Given the description of an element on the screen output the (x, y) to click on. 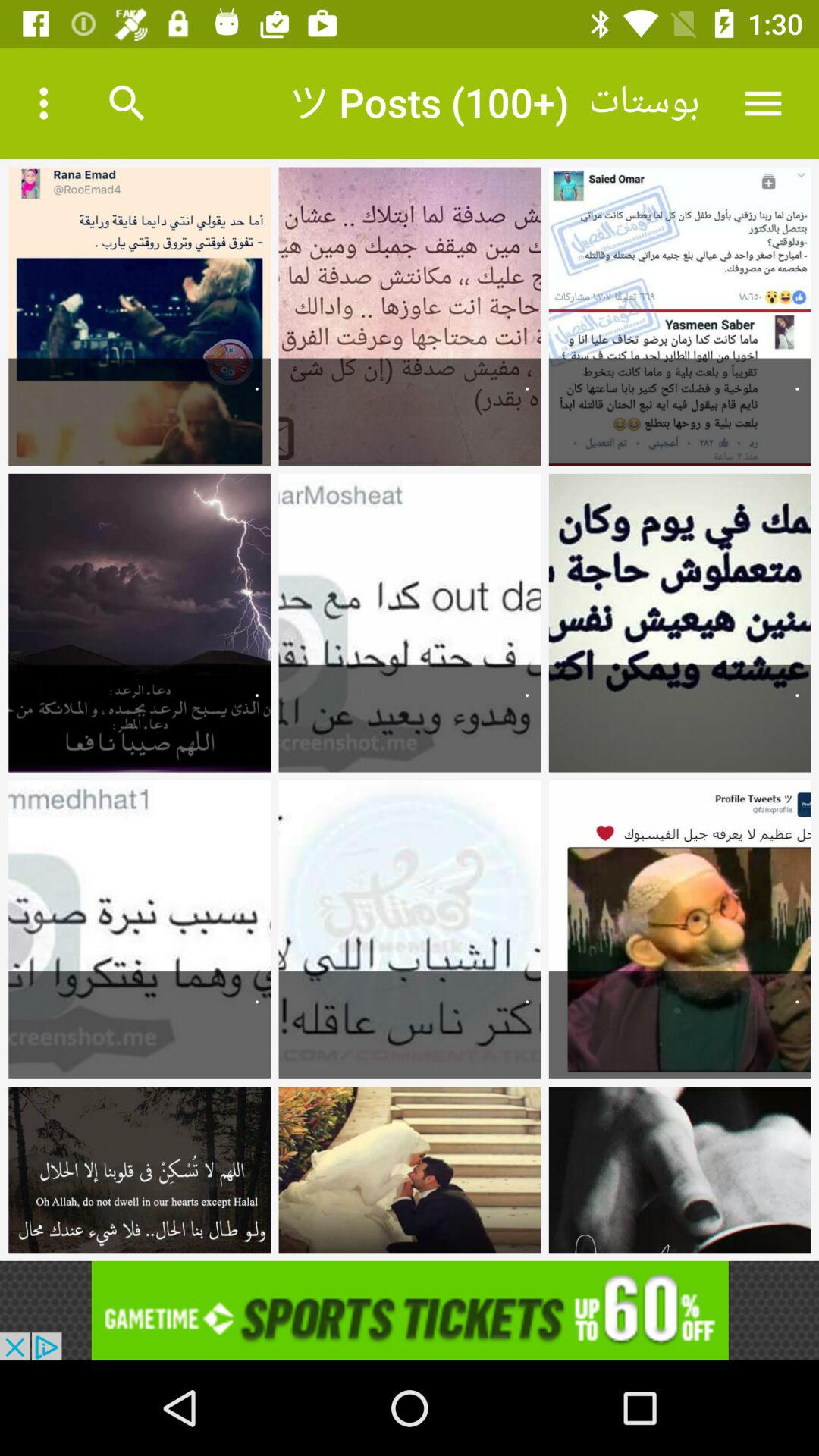
for advertisement (409, 1310)
